Given the description of an element on the screen output the (x, y) to click on. 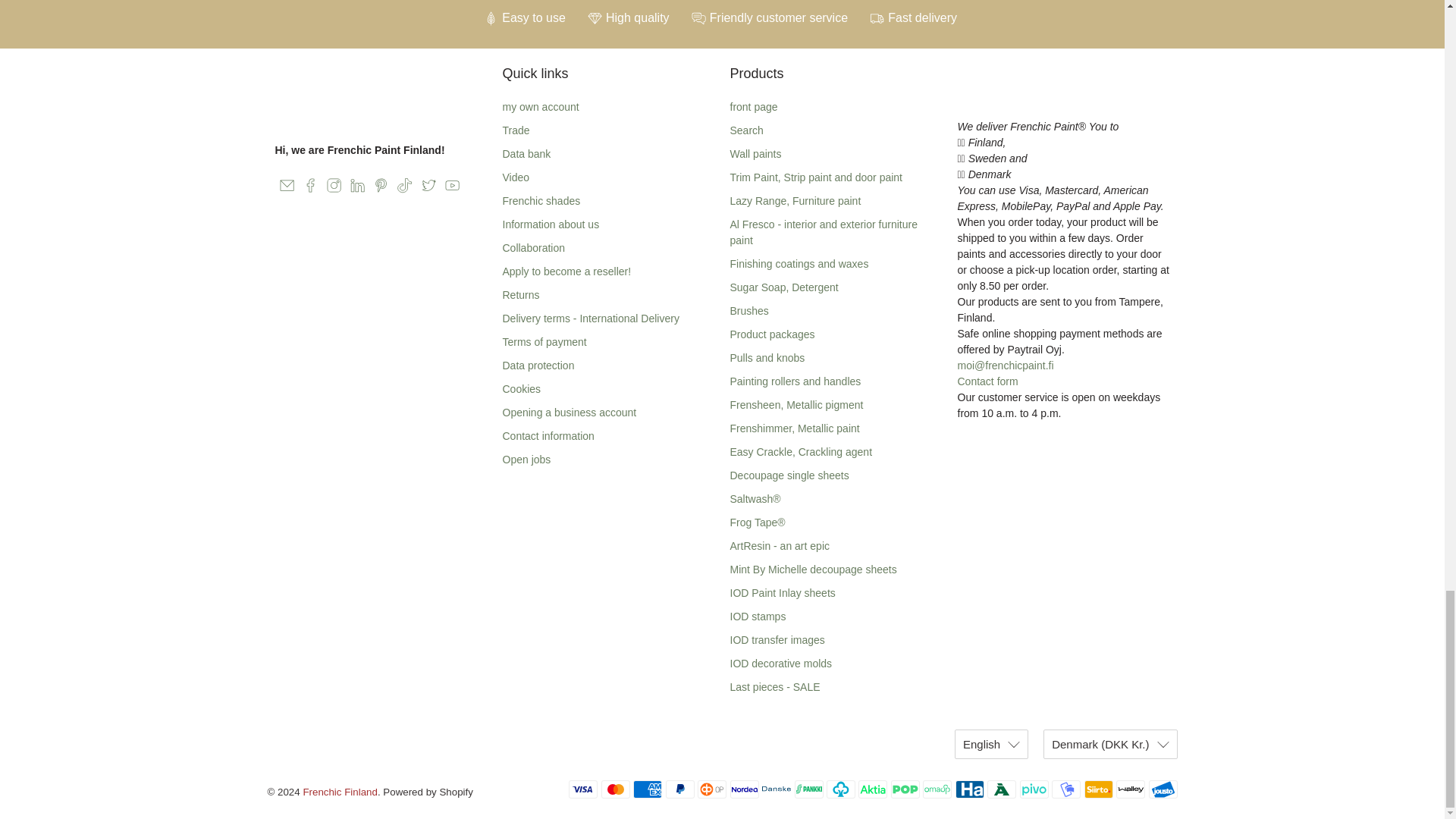
Visa (582, 789)
Mastercard (615, 789)
